Given the description of an element on the screen output the (x, y) to click on. 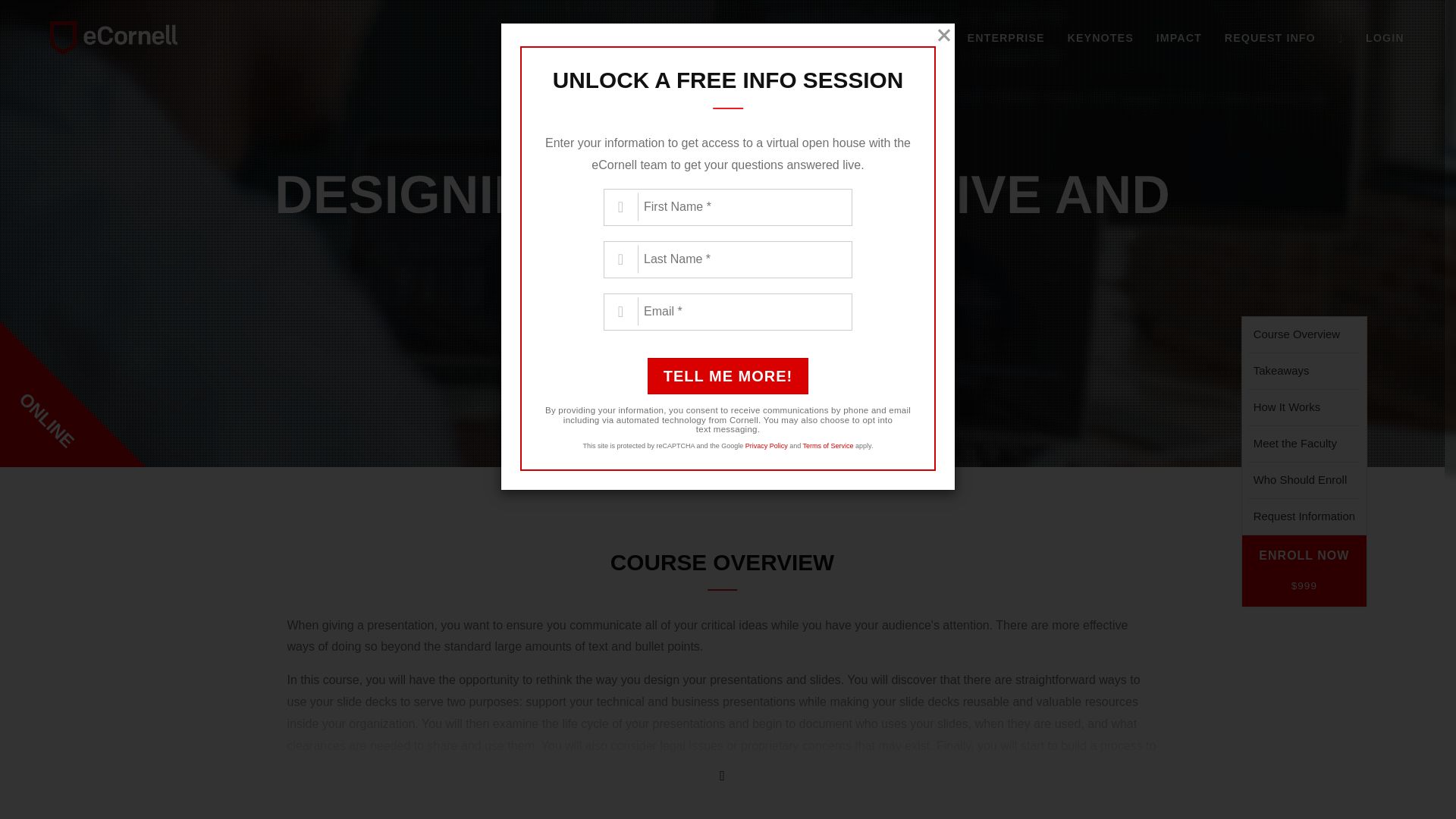
Course Overview (1304, 334)
ENTERPRISE (1006, 37)
LOGIN (1384, 37)
REQUEST INFO (1269, 37)
IMPACT (1178, 37)
PROGRAMS (909, 37)
KEYNOTES (1100, 37)
TELL ME MORE! (722, 357)
SEARCH OUR SITE (1340, 37)
